Given the description of an element on the screen output the (x, y) to click on. 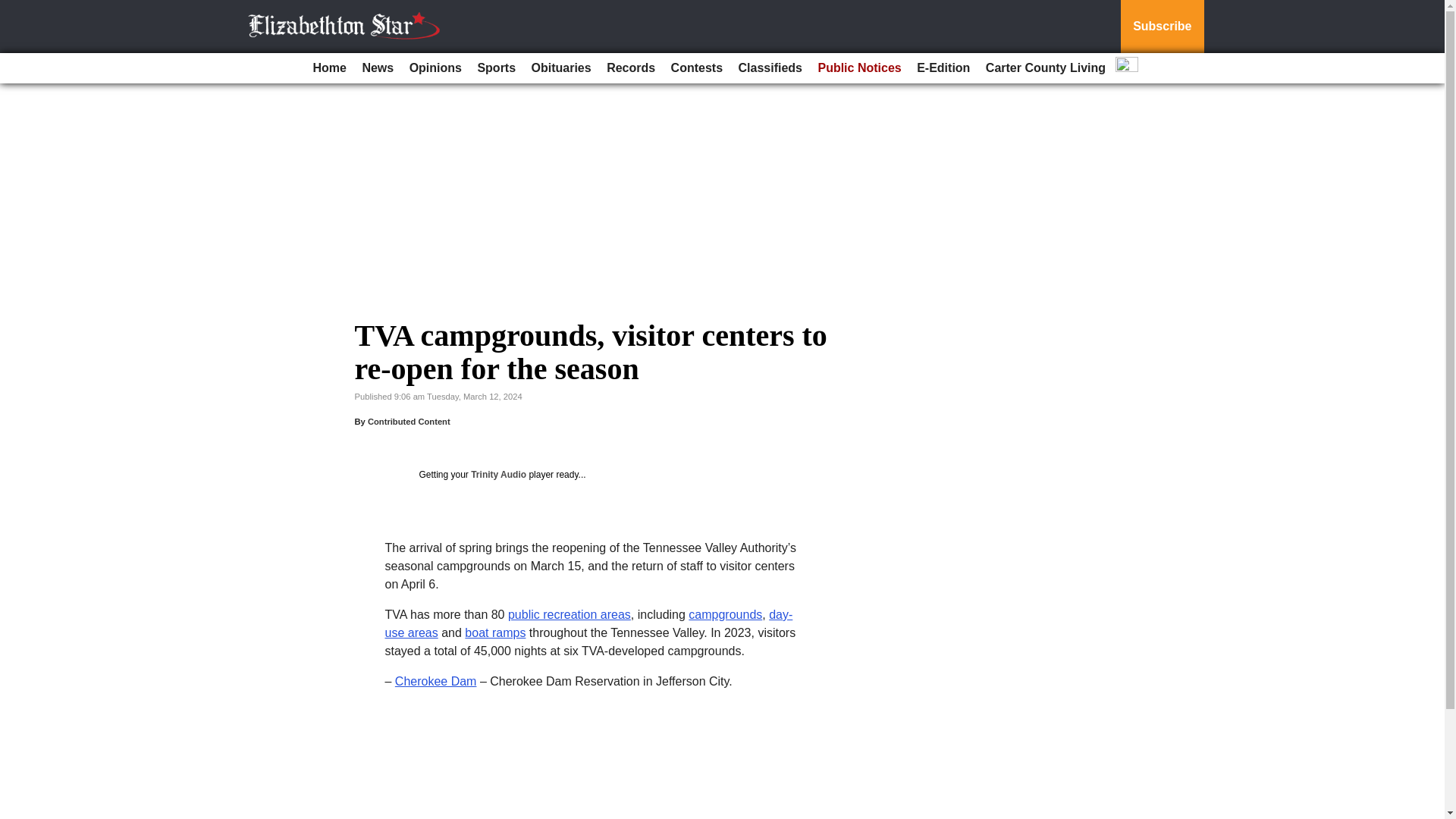
Go (13, 9)
Carter County Living (1045, 68)
campgrounds (724, 614)
Obituaries (560, 68)
Records (630, 68)
public recreation areas (569, 614)
Contributed Content (408, 420)
Public Notices (858, 68)
Trinity Audio (497, 474)
Classifieds (770, 68)
